Given the description of an element on the screen output the (x, y) to click on. 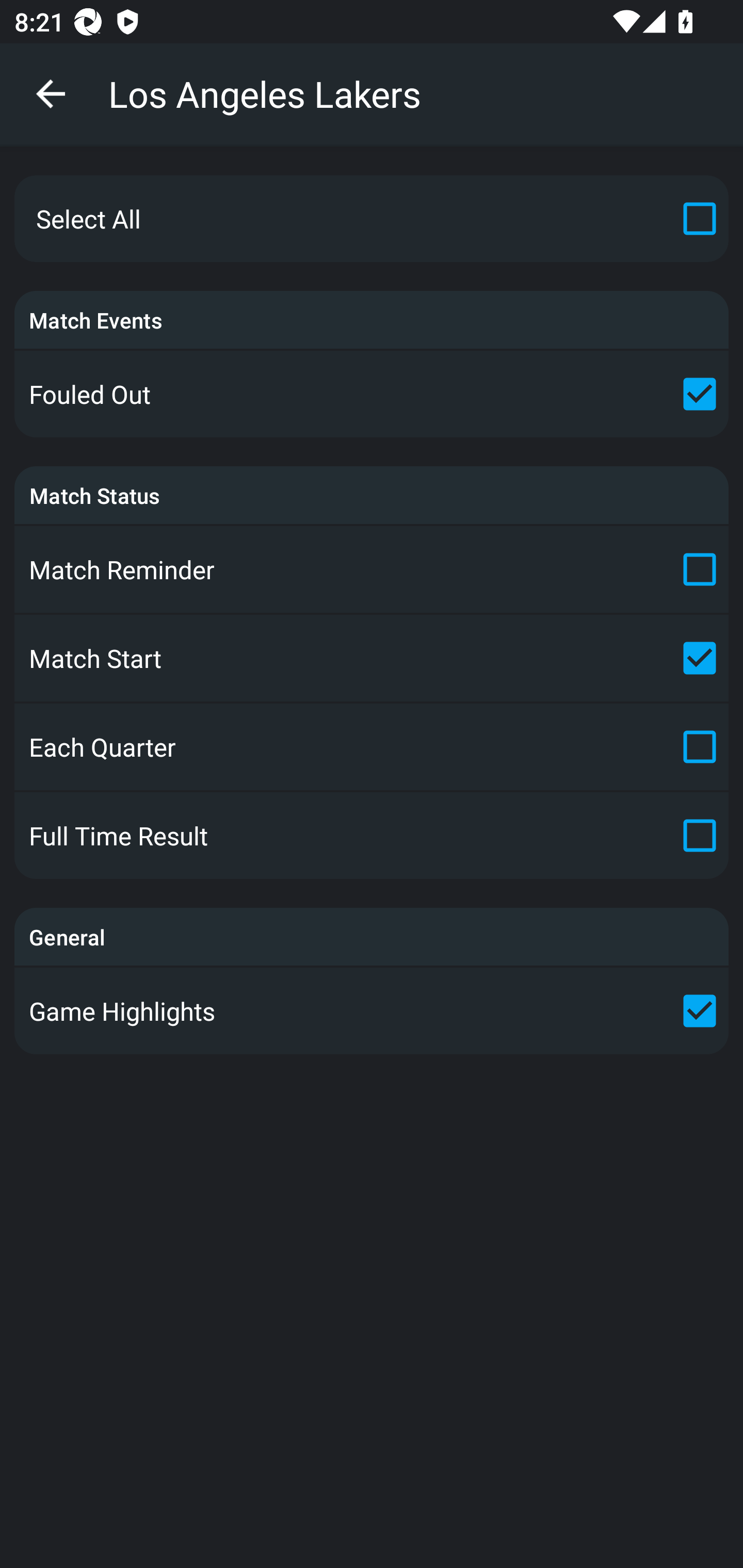
Navigate up (50, 93)
Fouled Out (371, 394)
Match Reminder (371, 569)
Match Start (371, 657)
Each Quarter (371, 747)
Full Time Result (371, 835)
Game Highlights (371, 1010)
